Given the description of an element on the screen output the (x, y) to click on. 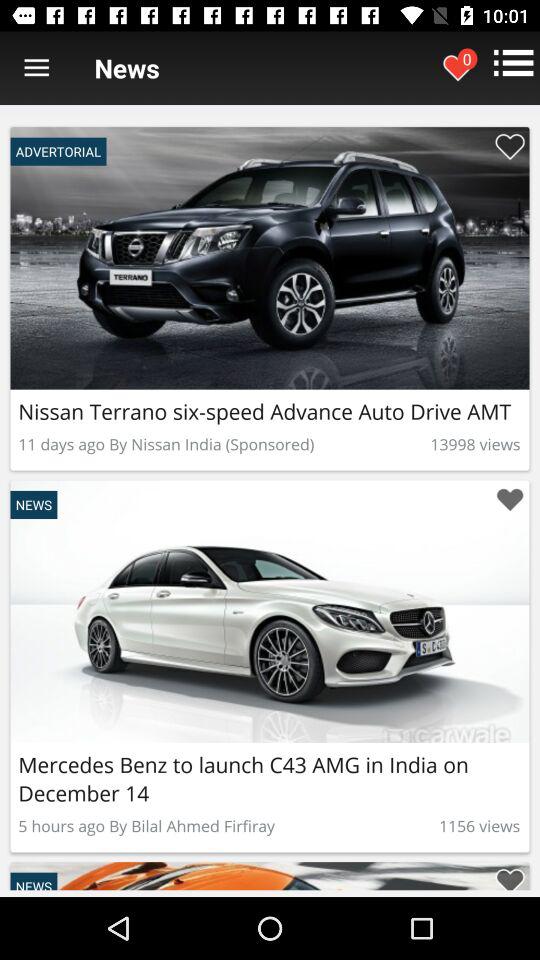
add to favorites (509, 146)
